Given the description of an element on the screen output the (x, y) to click on. 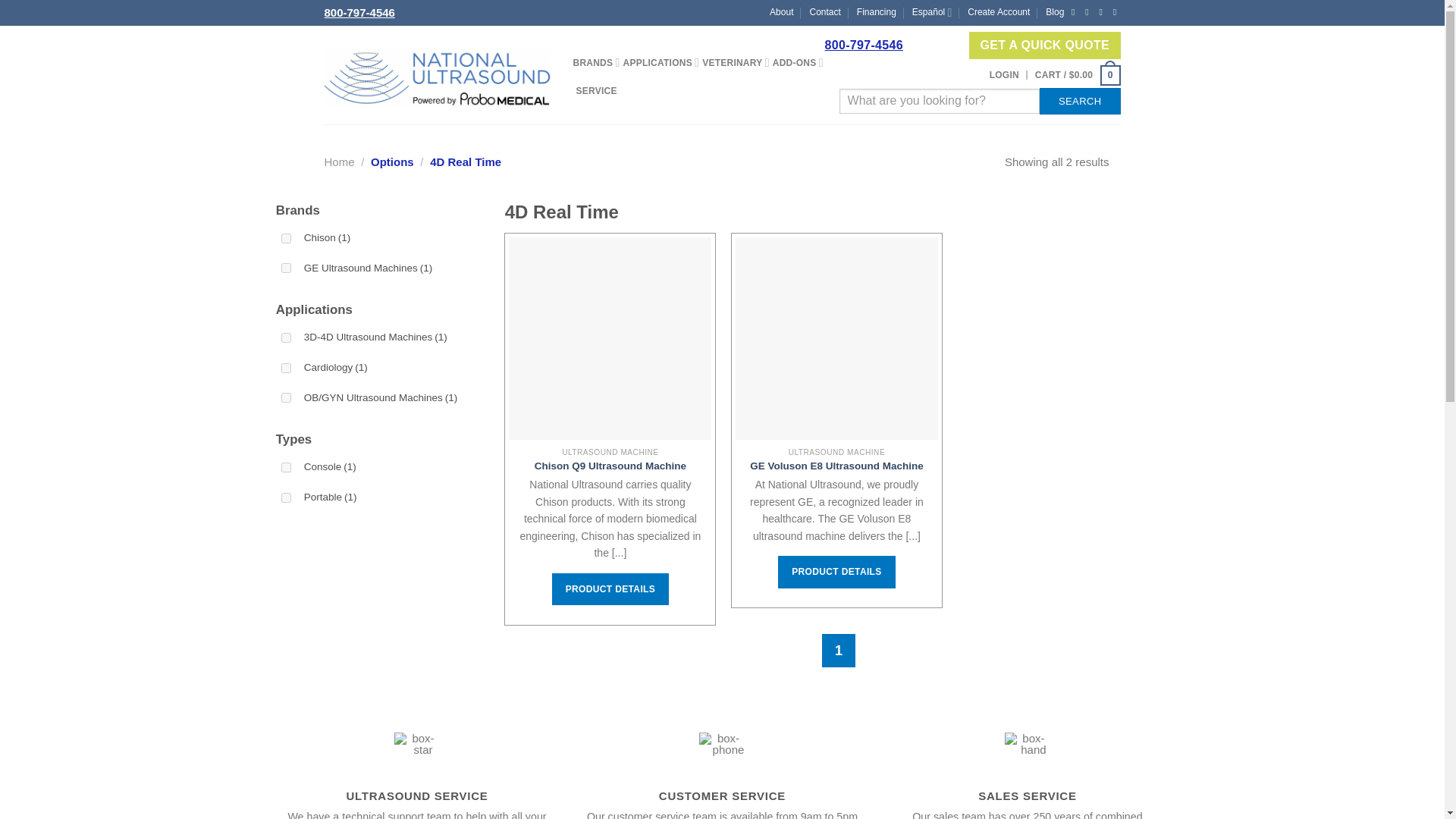
1996 (286, 238)
2487 (286, 397)
1307 (286, 267)
1312 (286, 467)
Follow on LinkedIn (1099, 12)
Follow on YouTube (1114, 12)
2485 (286, 368)
National Ultrasound (437, 78)
Follow on Facebook (1073, 12)
